Given the description of an element on the screen output the (x, y) to click on. 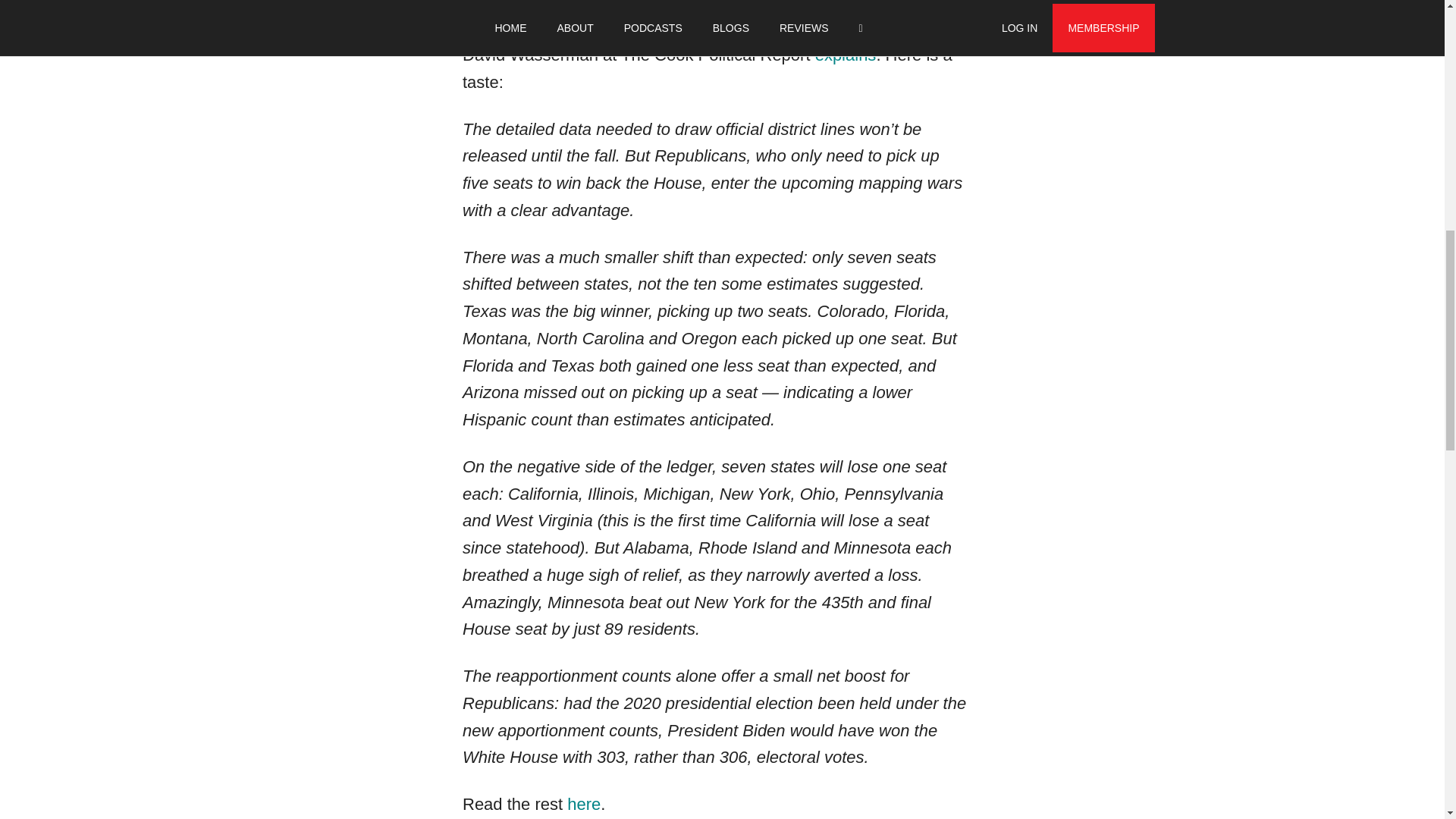
here (583, 804)
explains (843, 54)
